Given the description of an element on the screen output the (x, y) to click on. 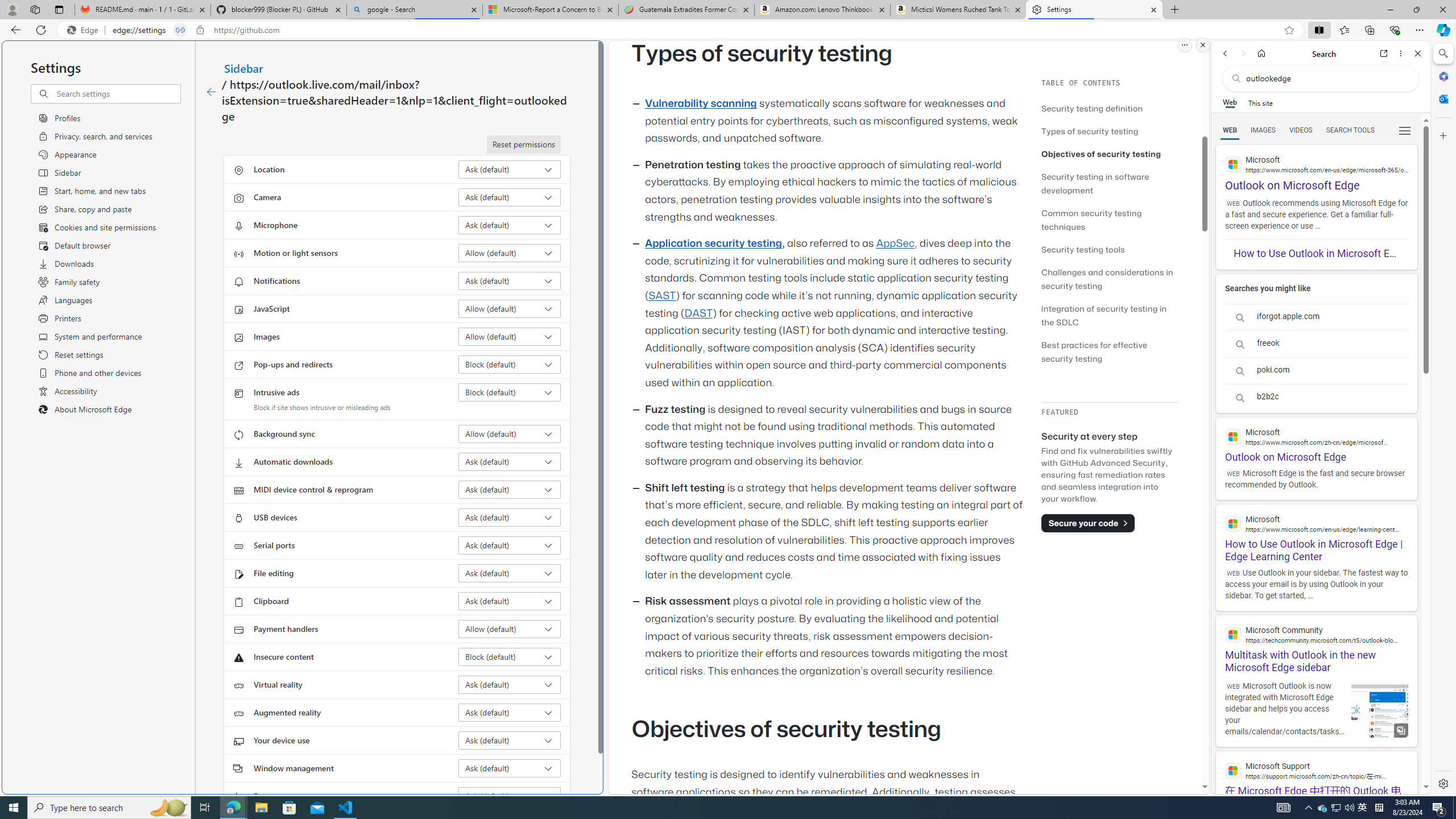
Common security testing techniques (1109, 219)
Vulnerability scanning (701, 103)
Security testing in software development (1109, 183)
Integration of security testing in the SDLC (1109, 315)
Preferences (1403, 129)
Microphone Ask (default) (509, 225)
Searches you might likeiforgot.apple.comfreeokpoki.comb2b2c (1315, 343)
Search Filter, IMAGES (1262, 129)
